Given the description of an element on the screen output the (x, y) to click on. 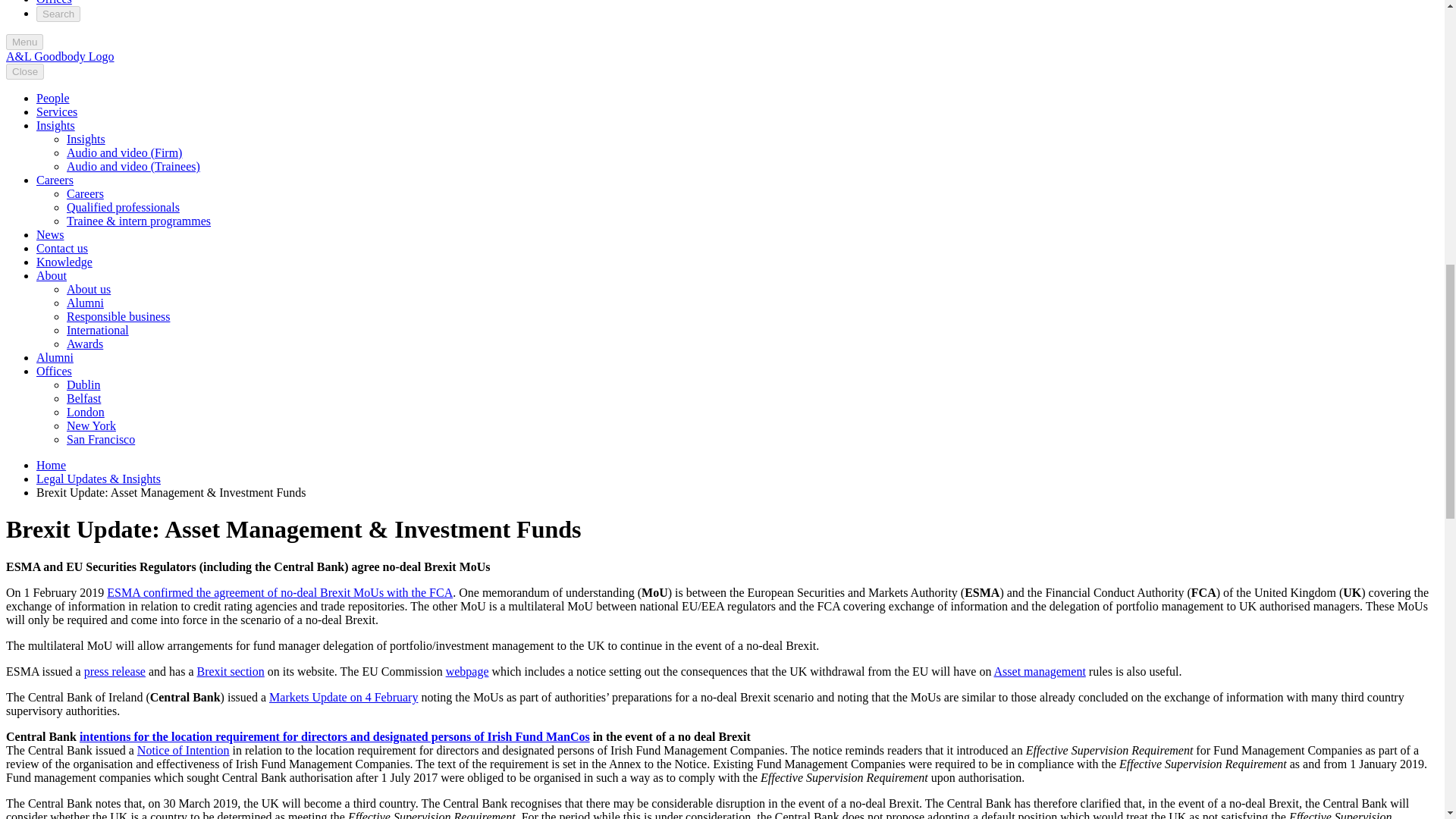
Search (58, 13)
People (52, 97)
Careers (55, 179)
Services (56, 111)
Insights (85, 138)
Menu (24, 41)
Careers (84, 193)
Insights (55, 124)
Offices (53, 2)
Close (24, 71)
